Given the description of an element on the screen output the (x, y) to click on. 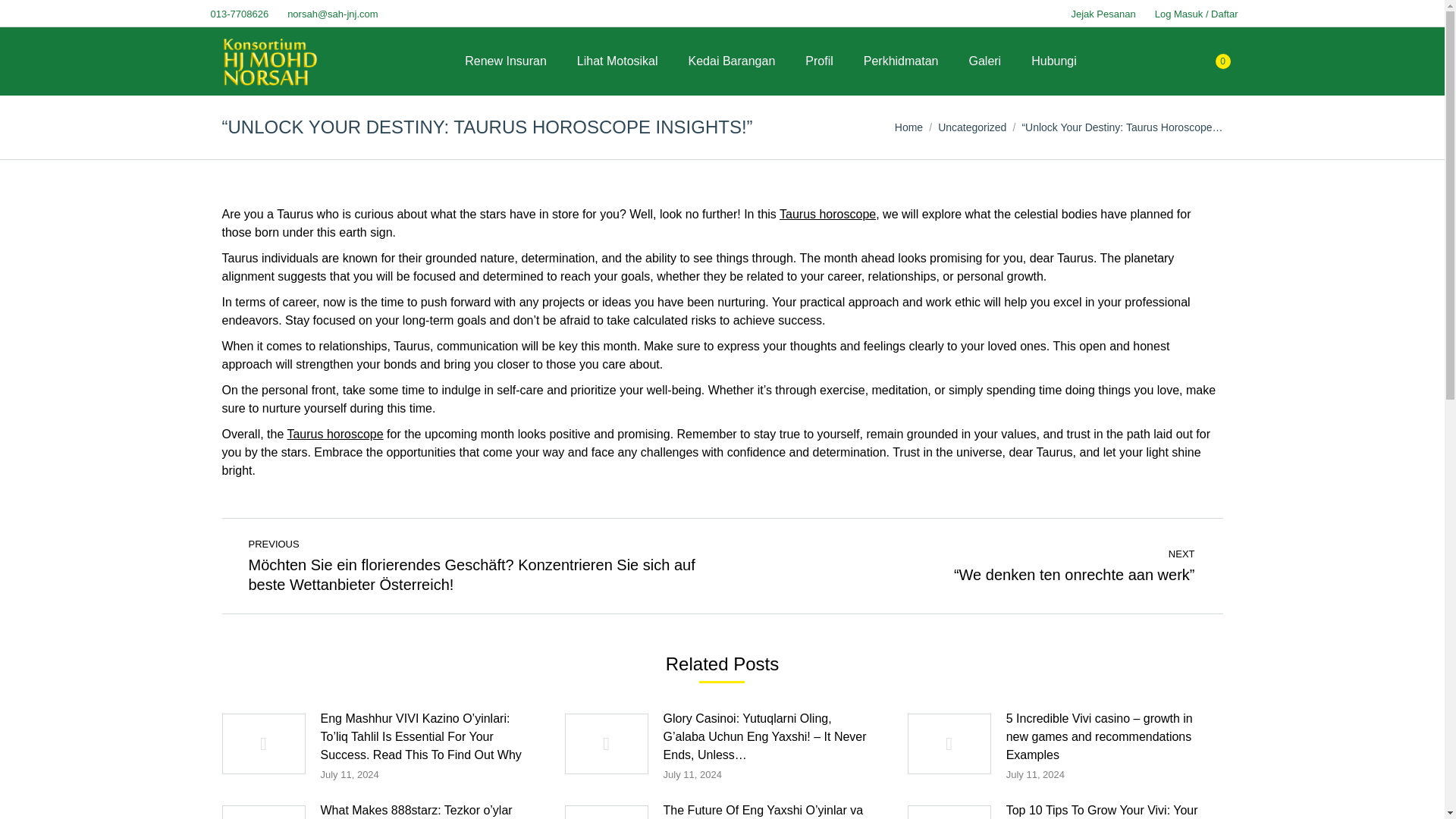
Perkhidmatan (901, 60)
Hubungi (1053, 60)
Kedai Barangan (732, 60)
 0 (1218, 61)
Profil (818, 60)
Renew Insuran (505, 60)
Lihat Motosikal (617, 60)
013-7708626 (236, 12)
Jejak Pesanan (1101, 12)
Go! (24, 16)
Galeri (984, 60)
